Given the description of an element on the screen output the (x, y) to click on. 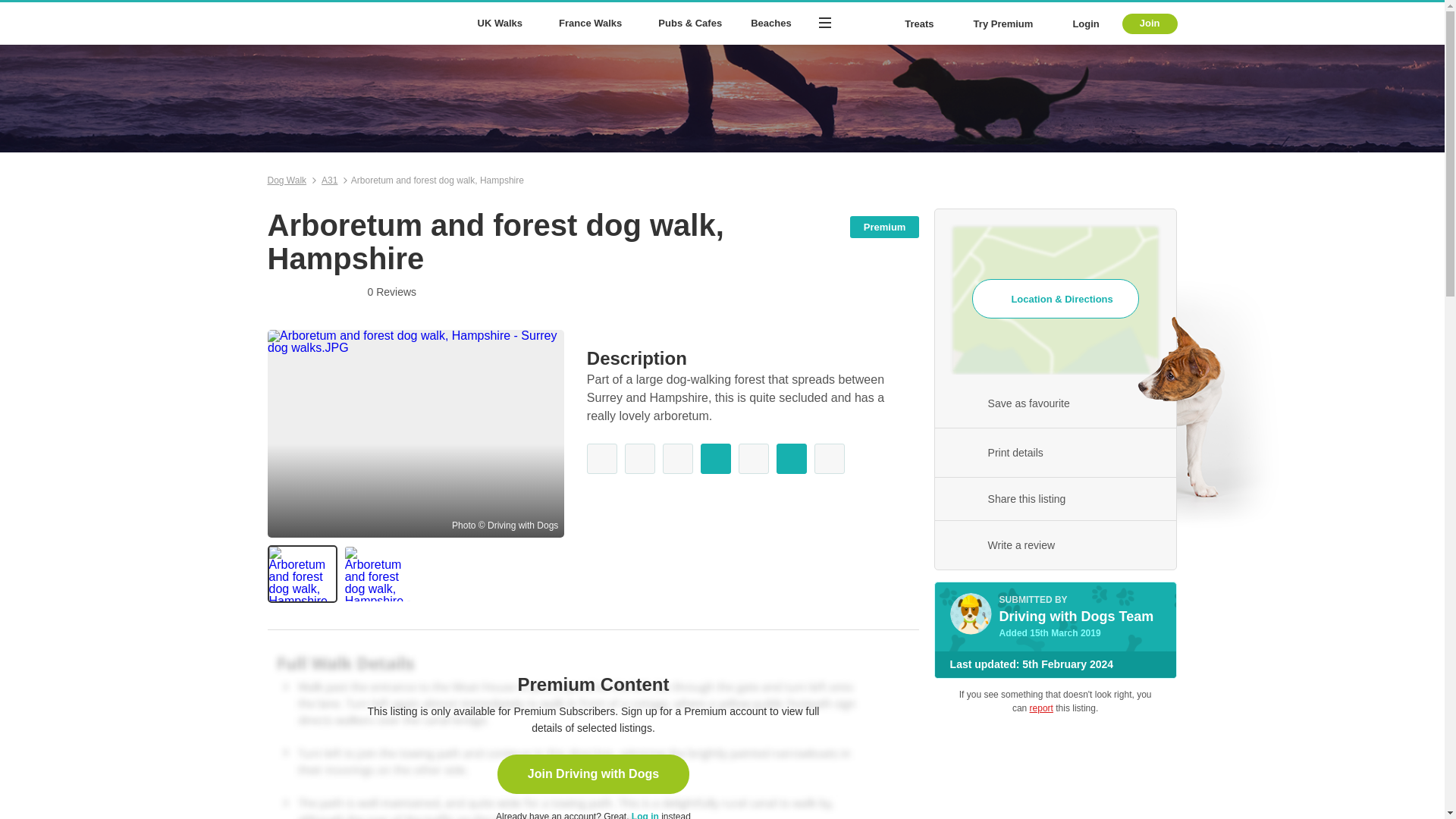
Disabled Access Not Available (601, 458)
WC Not Available (677, 458)
Beaches (770, 23)
Sleep Not Available (828, 458)
Children's Activities Not Available (753, 458)
France Walks (593, 23)
UK Walks (502, 23)
No Height Restriction (791, 458)
Free Parking Available (715, 458)
Refreshments Not Available (639, 458)
